Given the description of an element on the screen output the (x, y) to click on. 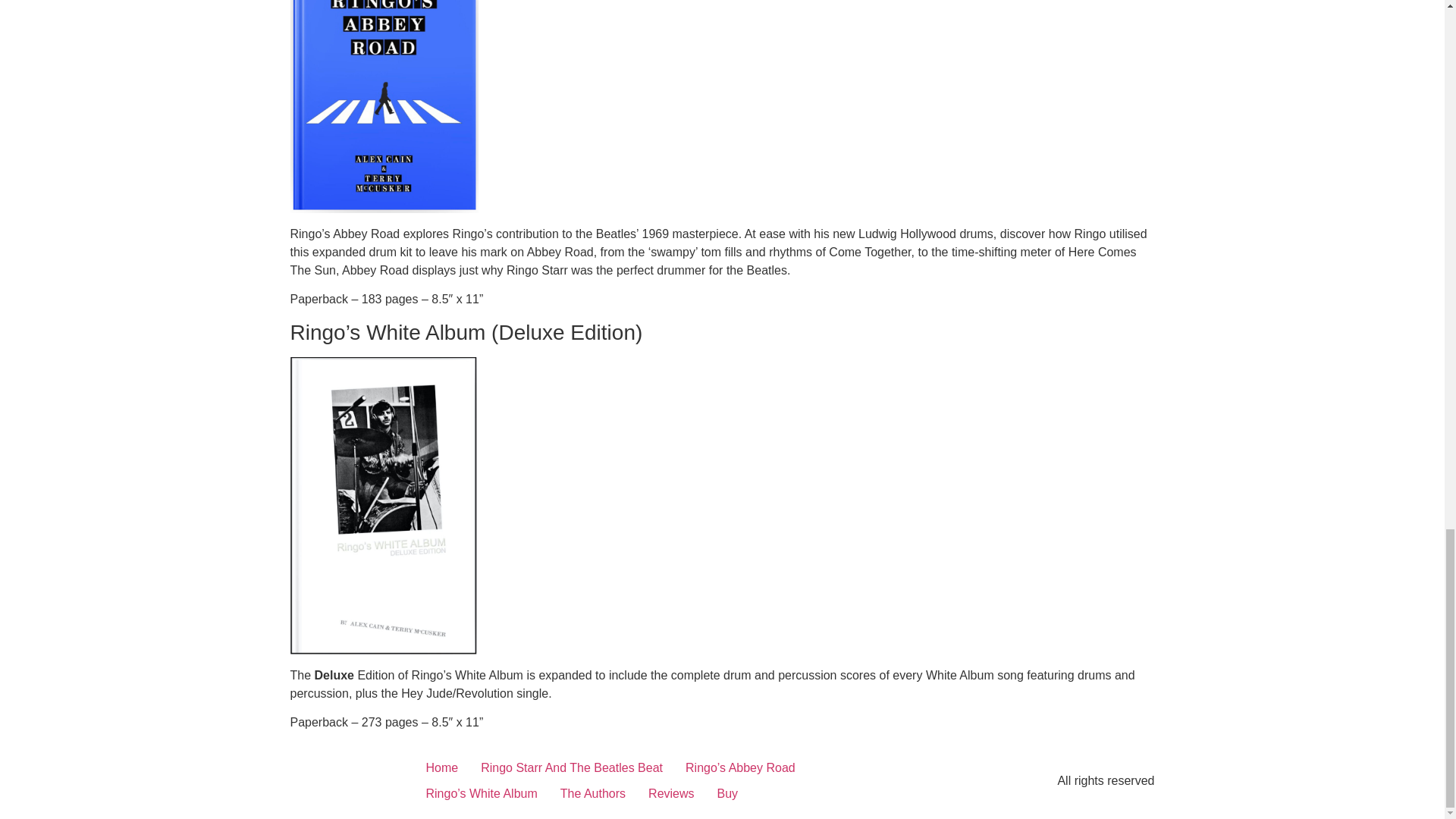
Ringo Starr And The Beatles Beat (571, 768)
The Authors (592, 793)
Home (440, 768)
Buy (727, 793)
Reviews (670, 793)
